Given the description of an element on the screen output the (x, y) to click on. 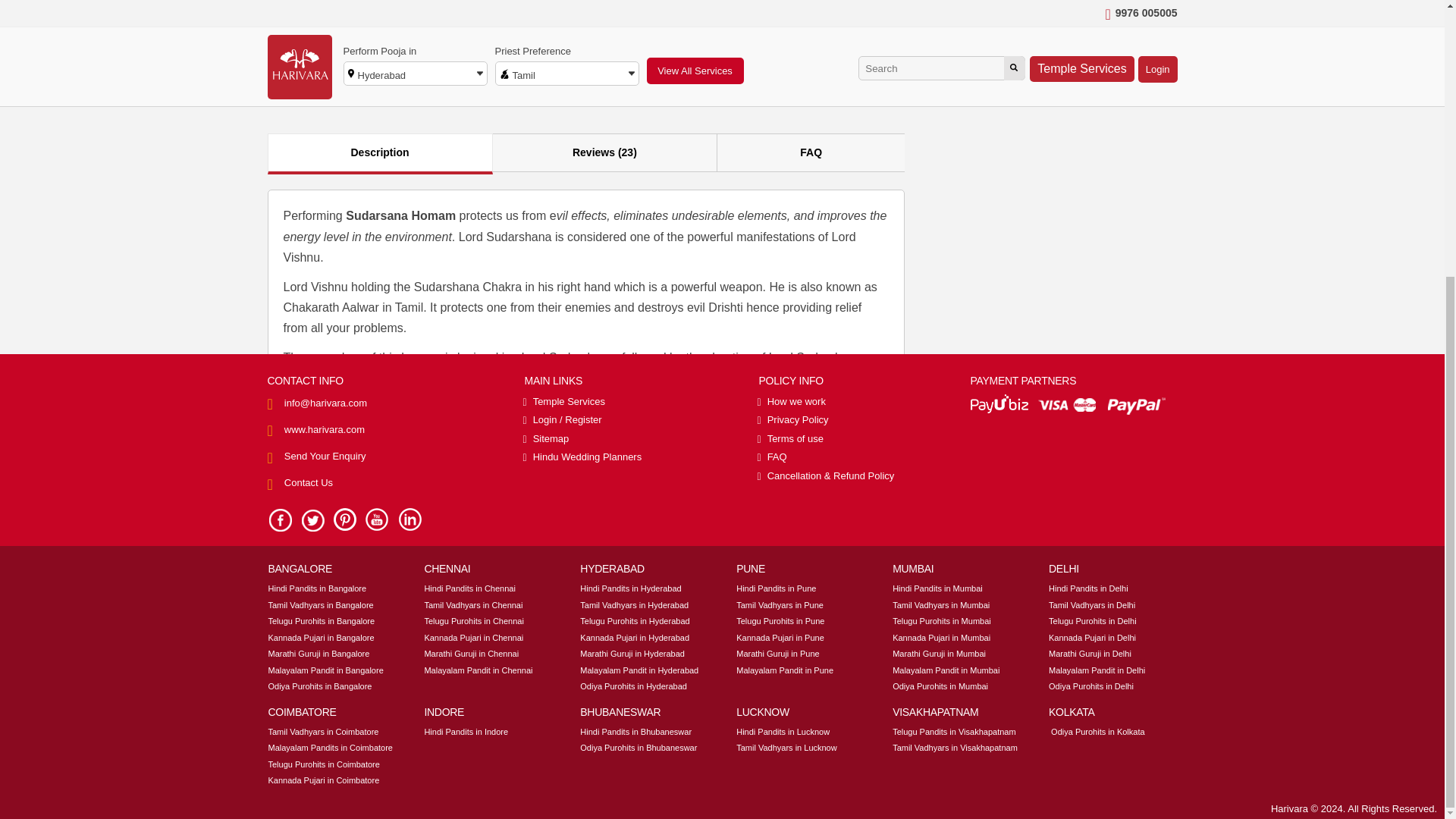
Send Your Enquiry (324, 46)
www.harivara.com (324, 19)
Contact Us (308, 72)
View Pricing And Packages (1088, 81)
Description (379, 153)
